Given the description of an element on the screen output the (x, y) to click on. 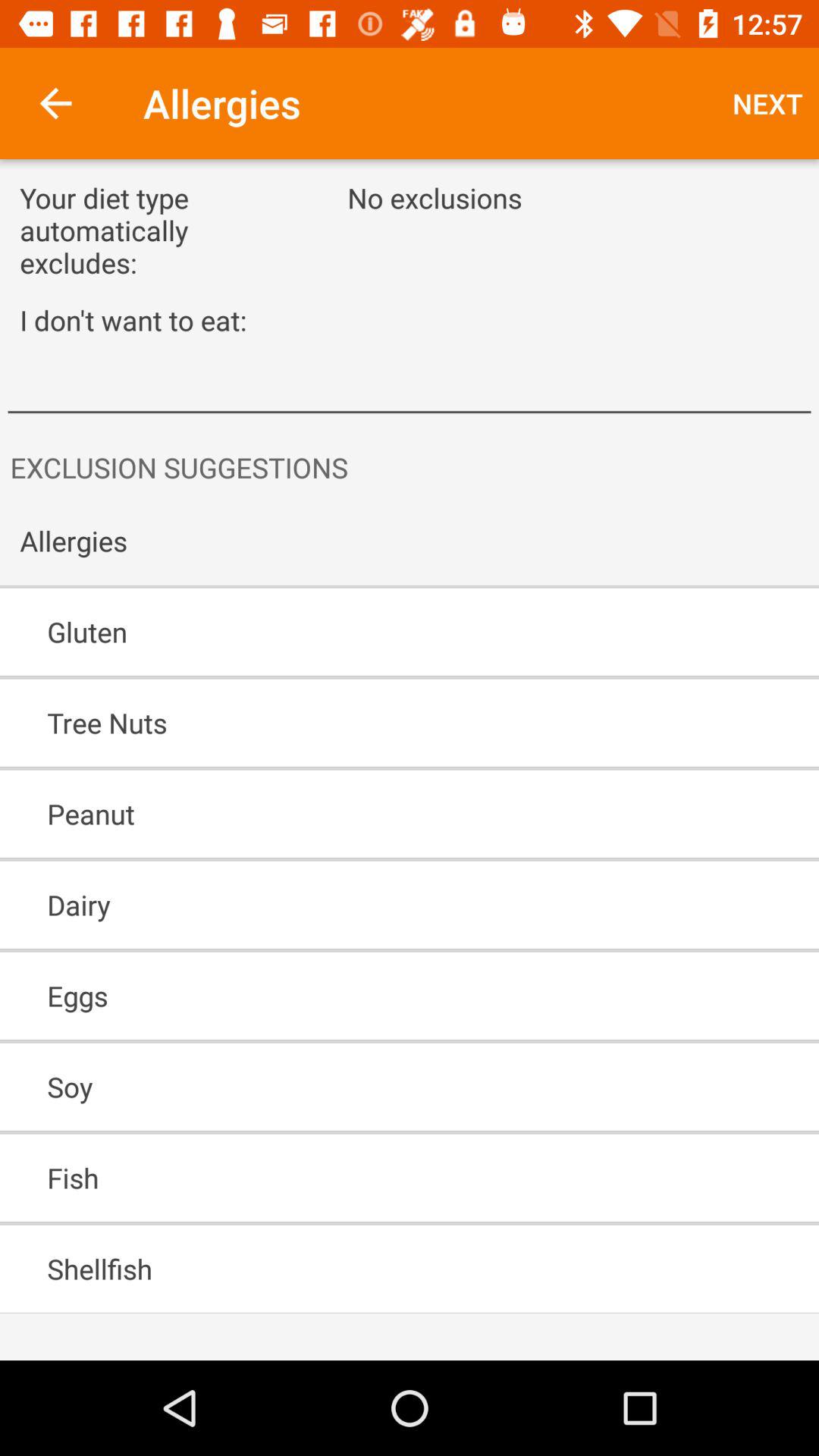
tap the icon below the     gluten (365, 722)
